Given the description of an element on the screen output the (x, y) to click on. 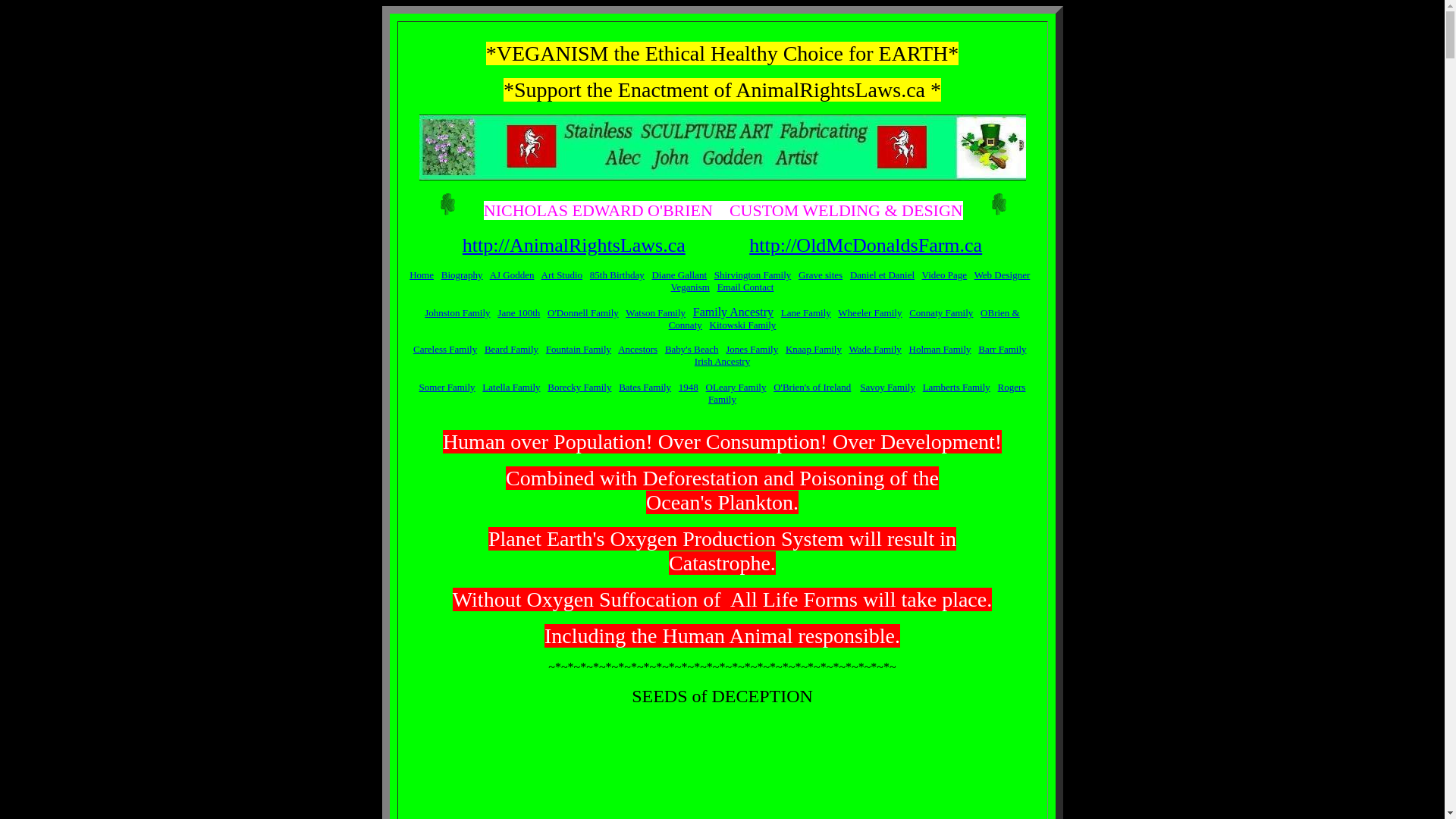
Lamberts Family Element type: text (956, 385)
O'Donnell Family Element type: text (582, 311)
Beard Family Element type: text (511, 348)
http://AnimalRightsLaws.ca Element type: text (573, 245)
Connaty Family Element type: text (940, 311)
Family Ancestry Element type: text (733, 311)
Irish Ancestry Element type: text (721, 361)
Rogers Family Element type: text (866, 391)
OBrien & Connaty Element type: text (843, 317)
Web Designer Element type: text (1002, 273)
Careless Family Element type: text (444, 348)
Jane 100th Element type: text (518, 311)
Daniel et Daniel Element type: text (882, 273)
Kitowski Family Element type: text (742, 323)
Somer Family Element type: text (447, 385)
Ancestors Element type: text (637, 348)
Borecky Family Element type: text (579, 385)
AJ Godden Element type: text (511, 273)
Holman Family Element type: text (940, 348)
OLeary Family Element type: text (736, 385)
Barr Family Element type: text (1002, 348)
Wheeler Family Element type: text (869, 311)
Johnston Family Element type: text (456, 311)
Jones Family Element type: text (751, 348)
Email Contact Element type: text (745, 285)
Knaap Family Element type: text (813, 348)
Grave sites Element type: text (820, 273)
Veganism Element type: text (690, 285)
Video Page Element type: text (944, 273)
http://OldMcDonaldsFarm.ca Element type: text (865, 245)
Biography Element type: text (462, 273)
Bates Family Element type: text (644, 385)
Watson Family Element type: text (655, 311)
Fountain Family Element type: text (578, 348)
Wade Family Element type: text (874, 348)
O'Brien's of Ireland Element type: text (811, 386)
Lane Family Element type: text (806, 311)
Home Element type: text (421, 273)
Shirvington Family Element type: text (752, 273)
Art Studio Element type: text (562, 273)
Latella Family Element type: text (510, 385)
Diane Gallant Element type: text (678, 273)
85th Birthday Element type: text (616, 273)
Baby's Beach Element type: text (691, 348)
Savoy Family Element type: text (887, 385)
1948 Element type: text (688, 385)
